Given the description of an element on the screen output the (x, y) to click on. 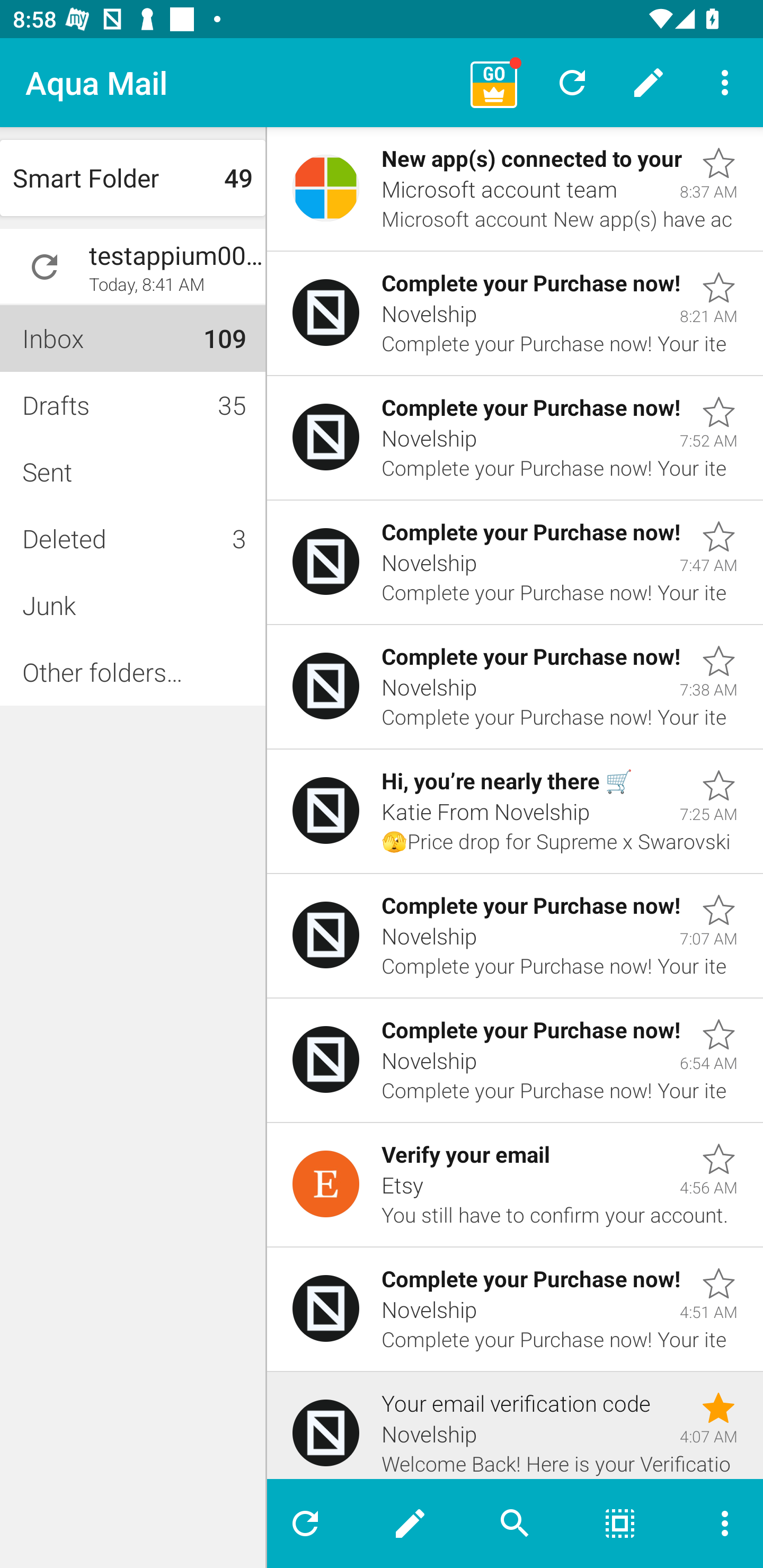
Refresh all (572, 82)
New message (648, 82)
More options (724, 81)
Smart Folder 49 49 unread, 50 total messages (132, 177)
Refresh account (44, 266)
Sent Folder: Sent 24 total messages (132, 471)
Deleted Folder: Deleted 3 3 total messages (132, 538)
Junk Folder: Junk 0 total messages (132, 605)
Other folders… (132, 671)
Refresh (312, 1523)
New message (409, 1523)
Search (514, 1523)
Select all (619, 1523)
More options (717, 1522)
